Given the description of an element on the screen output the (x, y) to click on. 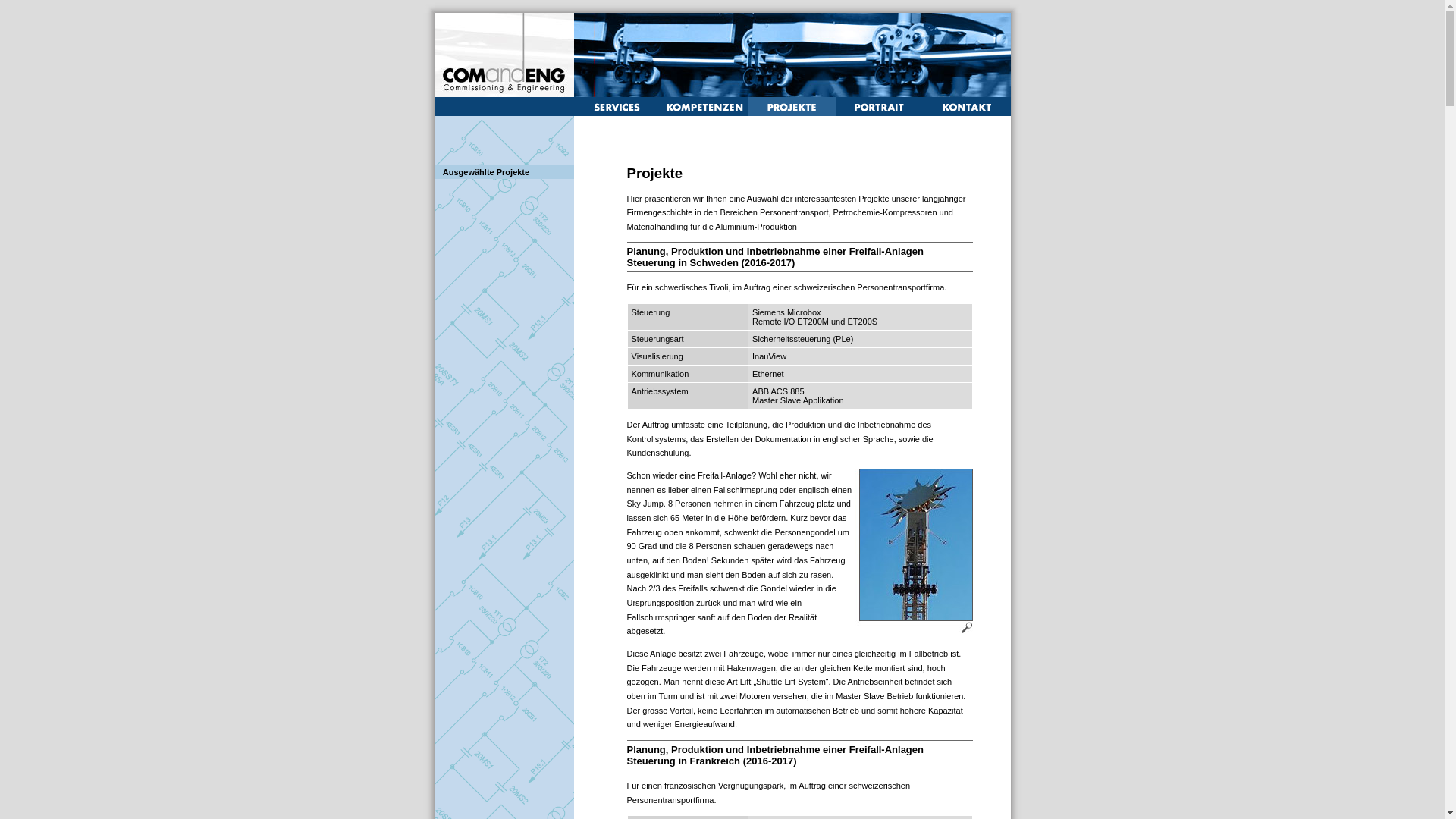
Adresse & Kontaktformular Element type: hover (966, 111)
Kompetenzen Element type: hover (704, 112)
Portrait Element type: hover (878, 112)
Projekte Element type: hover (790, 112)
Unsere Services Element type: hover (616, 112)
